Given the description of an element on the screen output the (x, y) to click on. 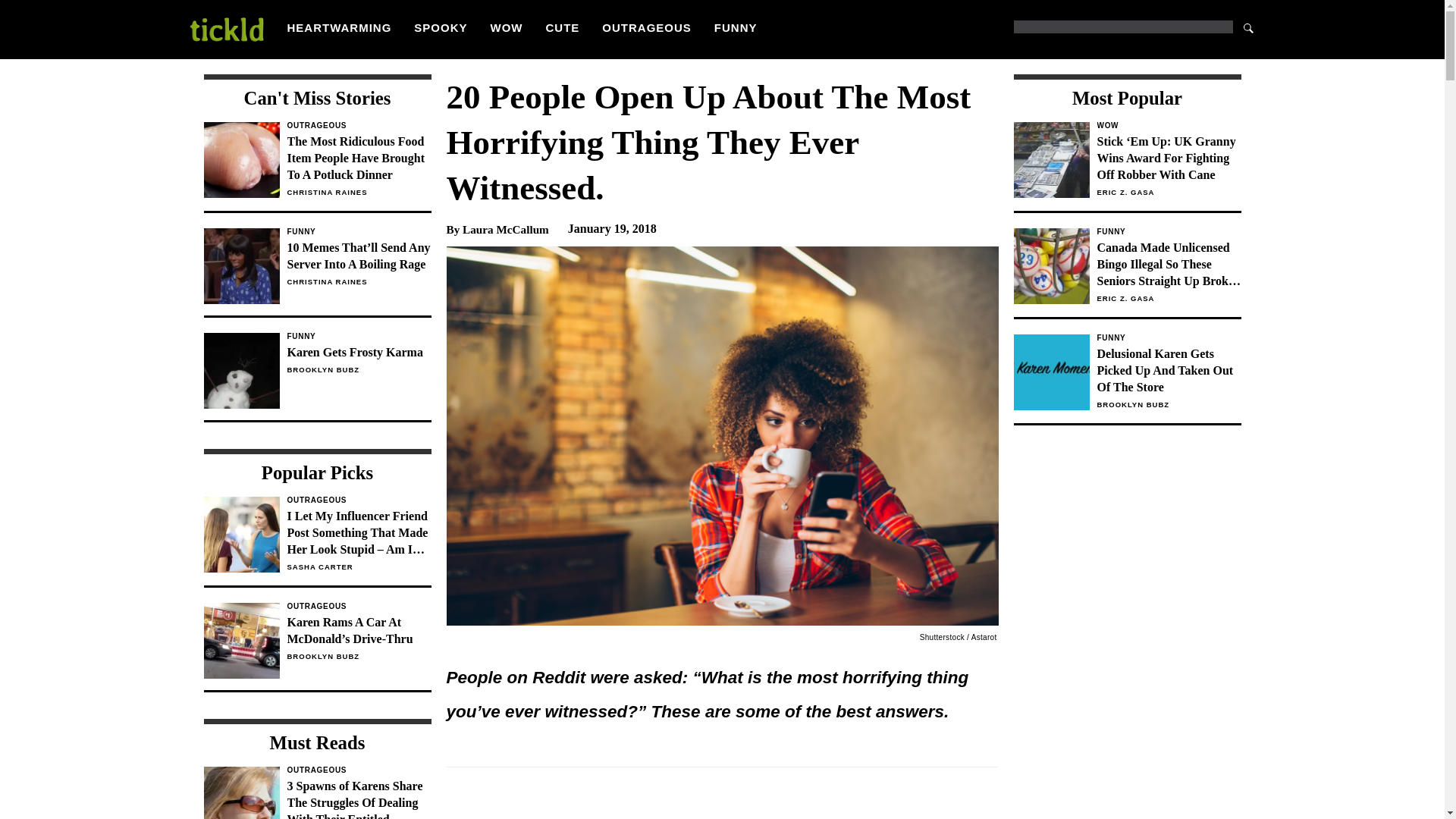
OUTRAGEOUS (646, 26)
Search (1248, 27)
Search (1248, 27)
CUTE (562, 26)
By Laura McCallum (496, 228)
Funny (358, 231)
Tickld (225, 29)
Funny (1168, 338)
WOW (1168, 125)
WOW (506, 26)
Outrageous (358, 125)
HEARTWARMING (338, 26)
